Given the description of an element on the screen output the (x, y) to click on. 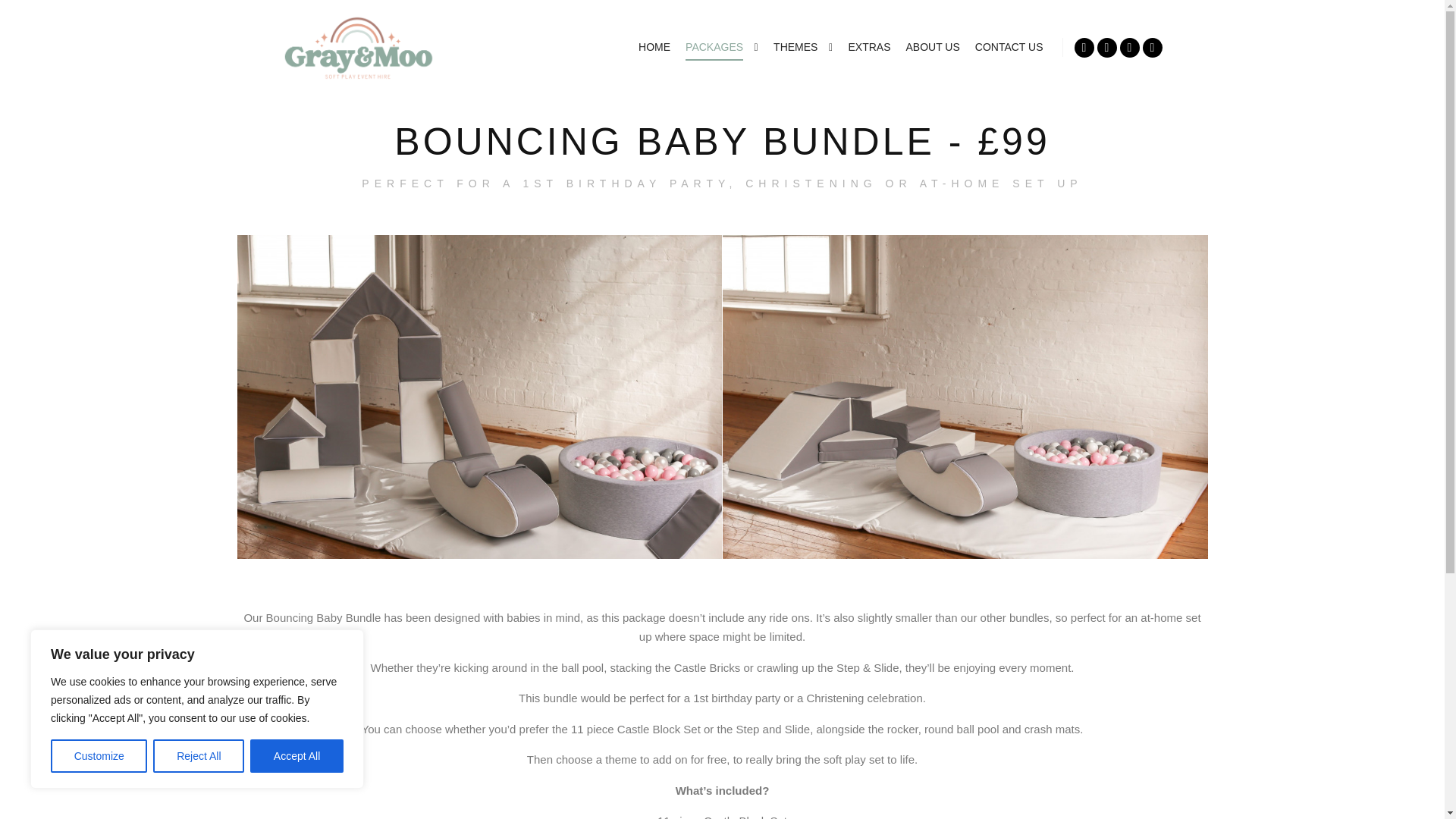
Customize (98, 756)
E-mail (1128, 47)
Whatsapp (1151, 47)
Instagram (1106, 47)
Facebook (1083, 47)
Accept All (296, 756)
Reject All (198, 756)
